Given the description of an element on the screen output the (x, y) to click on. 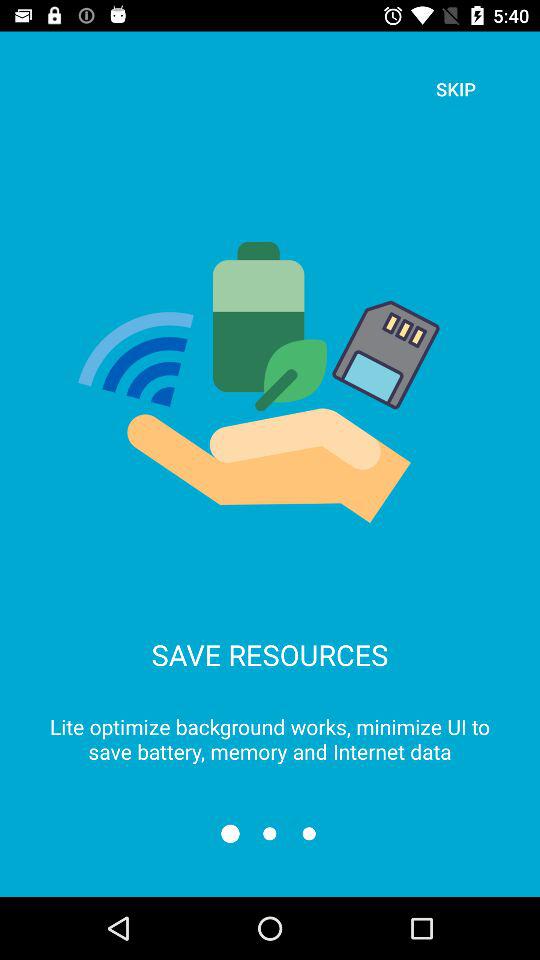
scroll to skip icon (455, 88)
